Given the description of an element on the screen output the (x, y) to click on. 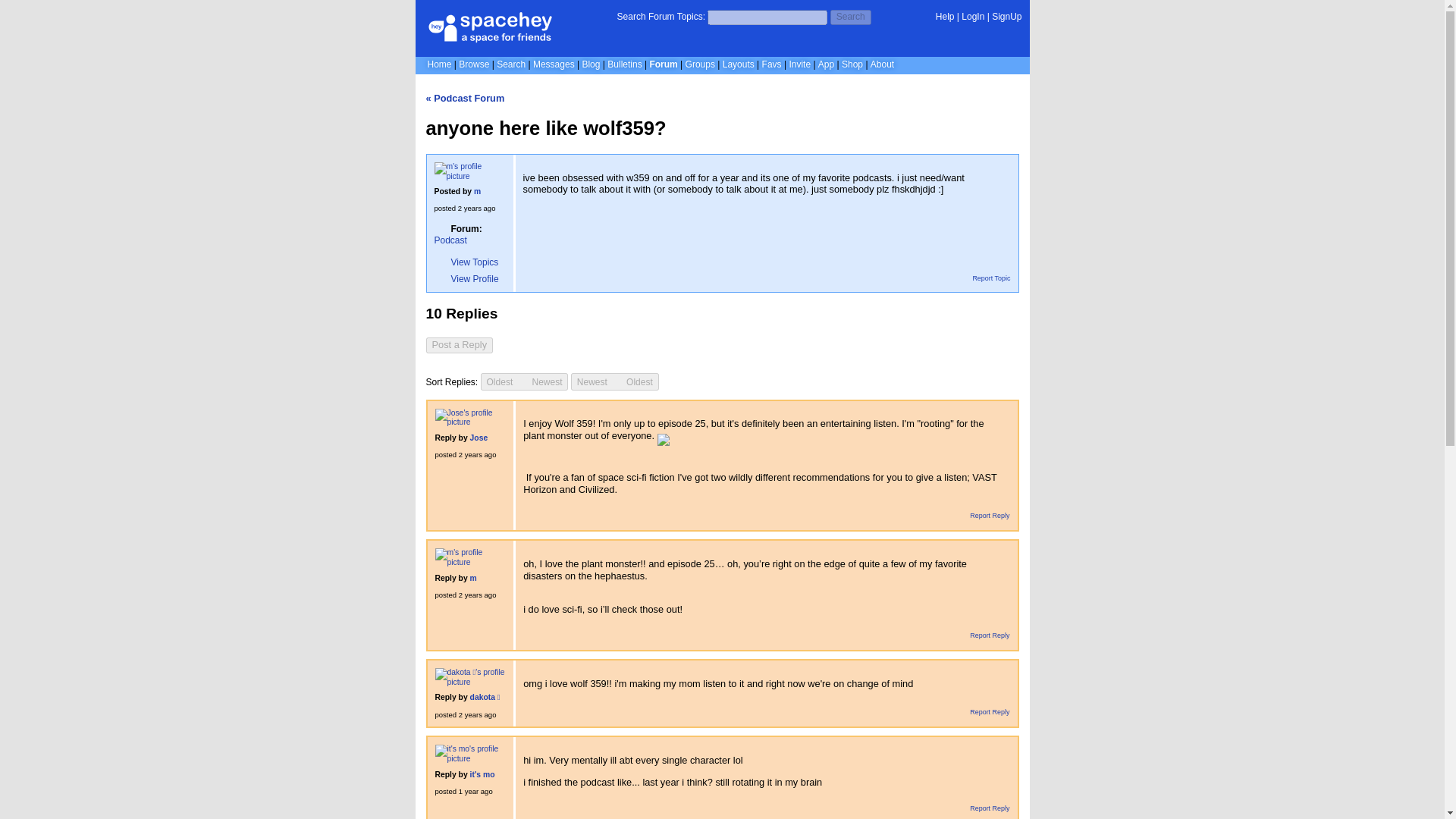
SpaceHey Mobile (826, 63)
LogIn (972, 16)
Oldest Newest (525, 381)
Help (945, 16)
RSS Feed (1011, 308)
Home (439, 63)
App (826, 63)
Forum (663, 63)
m (477, 191)
Groups (699, 63)
Newest Oldest (614, 381)
Invite (799, 63)
Post a Reply (459, 344)
Podcast (449, 240)
Report Reply (984, 515)
